Given the description of an element on the screen output the (x, y) to click on. 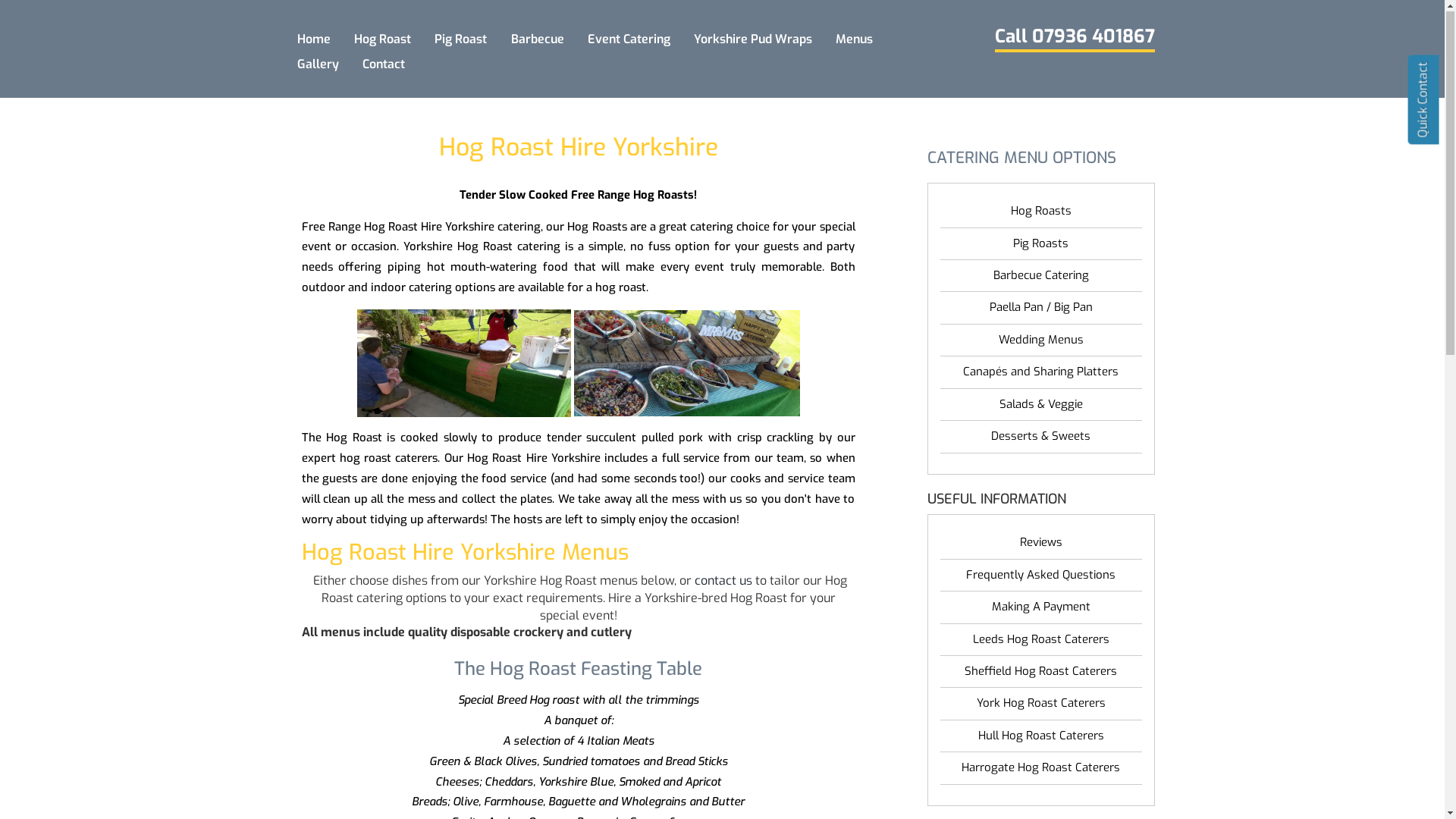
Barbecue Element type: text (537, 39)
Pig Roasts Element type: text (1041, 244)
Frequently Asked Questions Element type: text (1041, 575)
Making A Payment Element type: text (1041, 607)
Wedding Menus Element type: text (1041, 340)
Sheffield Hog Roast Caterers Element type: text (1041, 671)
Reviews Element type: text (1041, 542)
Menus Element type: text (854, 39)
Hull Hog Roast Caterers Element type: text (1041, 736)
Contact Element type: text (383, 64)
Paella Pan / Big Pan Element type: text (1041, 307)
Yorkshire Pud Wraps Element type: text (752, 39)
Event Catering Element type: text (628, 39)
Gallery Element type: text (317, 64)
contact us Element type: text (723, 581)
Harrogate Hog Roast Caterers Element type: text (1041, 768)
Home Element type: text (313, 39)
Hog Roasts Element type: text (1041, 211)
Salads & Veggie Element type: text (1041, 404)
Leeds Hog Roast Caterers Element type: text (1041, 639)
Barbecue Catering Element type: text (1041, 275)
Desserts & Sweets Element type: text (1041, 436)
Hog Roast Element type: text (382, 39)
York Hog Roast Caterers Element type: text (1041, 703)
Pig Roast Element type: text (460, 39)
